Given the description of an element on the screen output the (x, y) to click on. 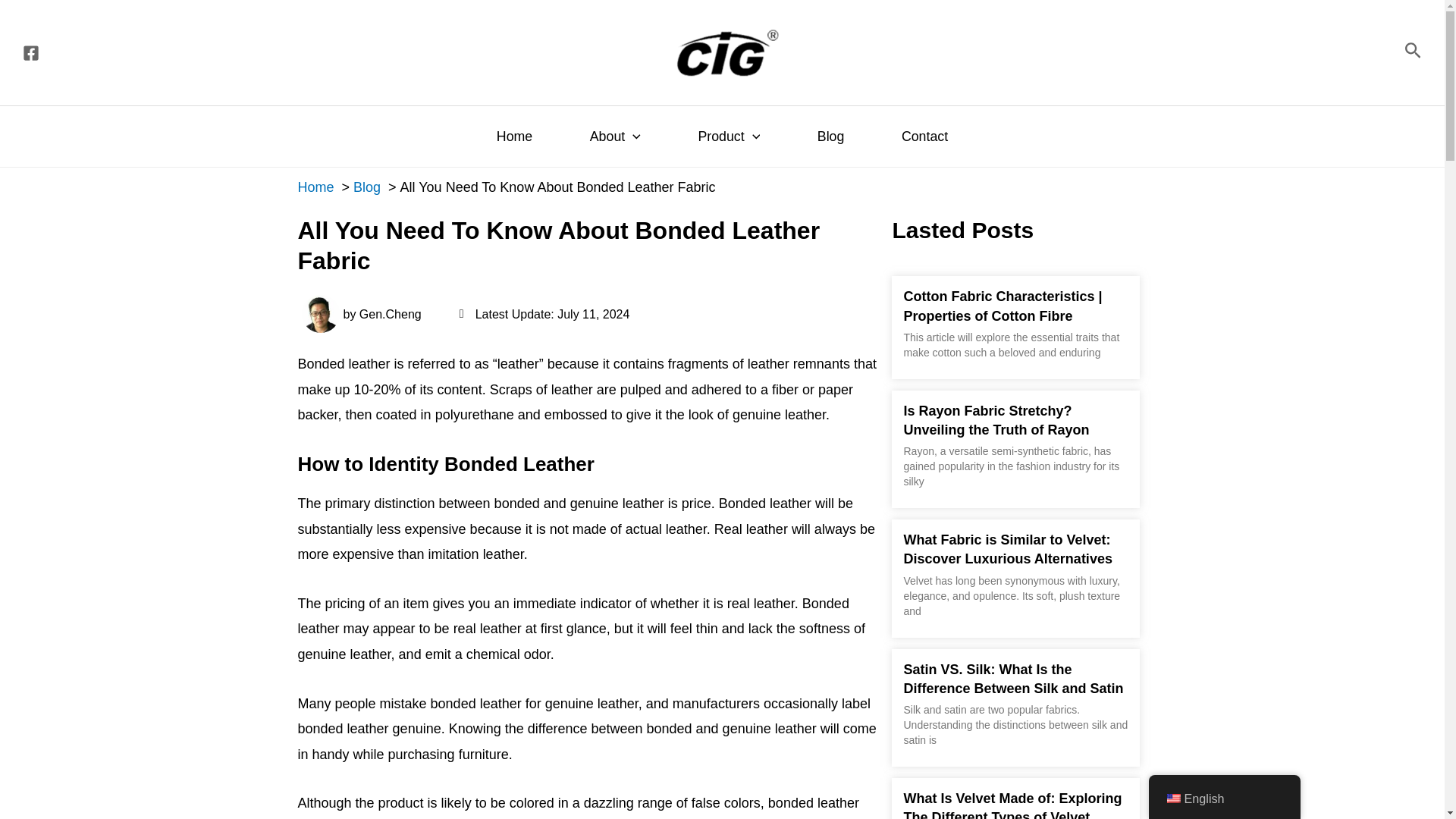
About (614, 135)
Home (514, 135)
Product (728, 135)
English (1172, 798)
